Given the description of an element on the screen output the (x, y) to click on. 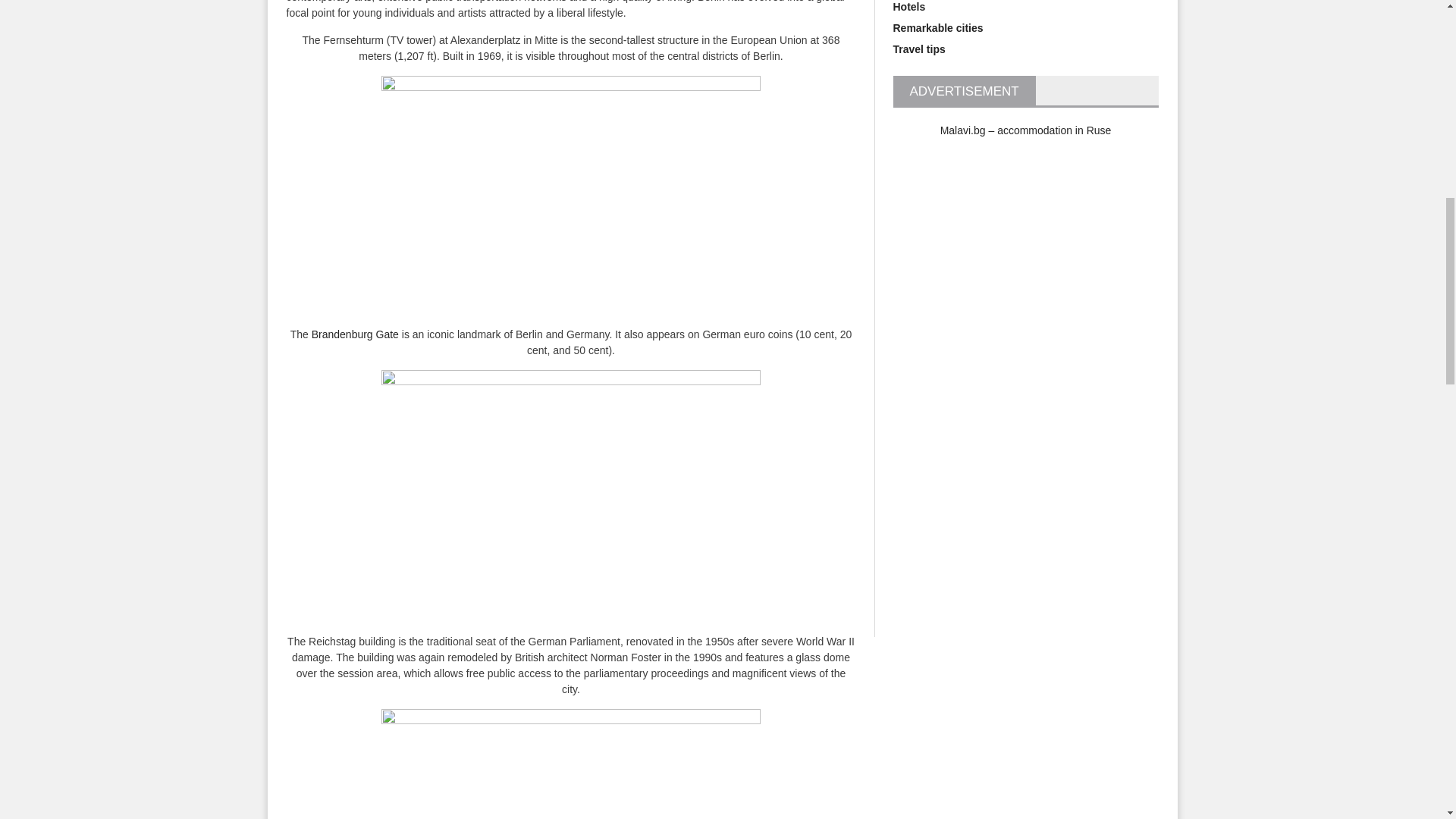
Brandenburg Gate (354, 334)
